Given the description of an element on the screen output the (x, y) to click on. 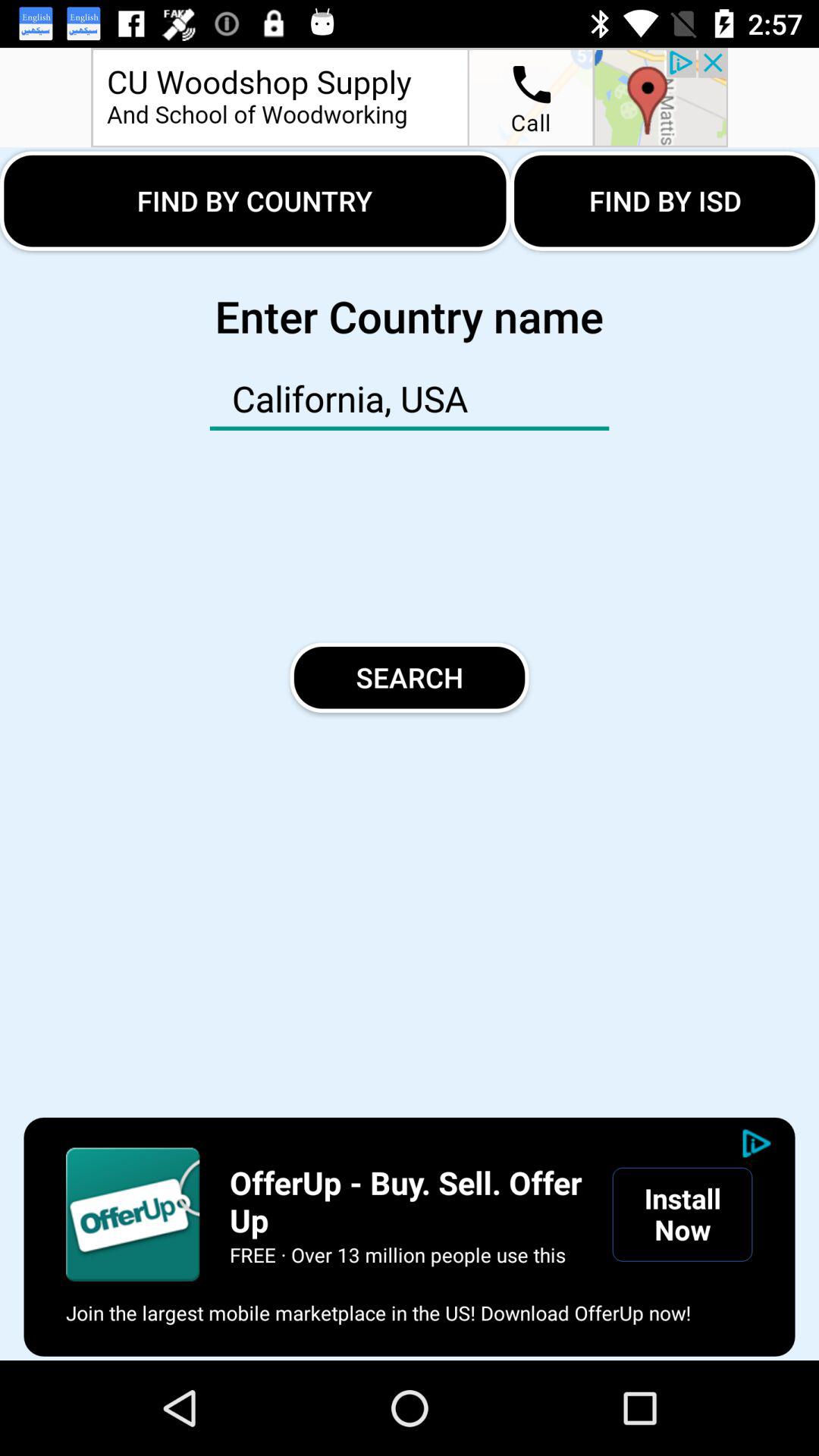
google advertisements (132, 1214)
